Given the description of an element on the screen output the (x, y) to click on. 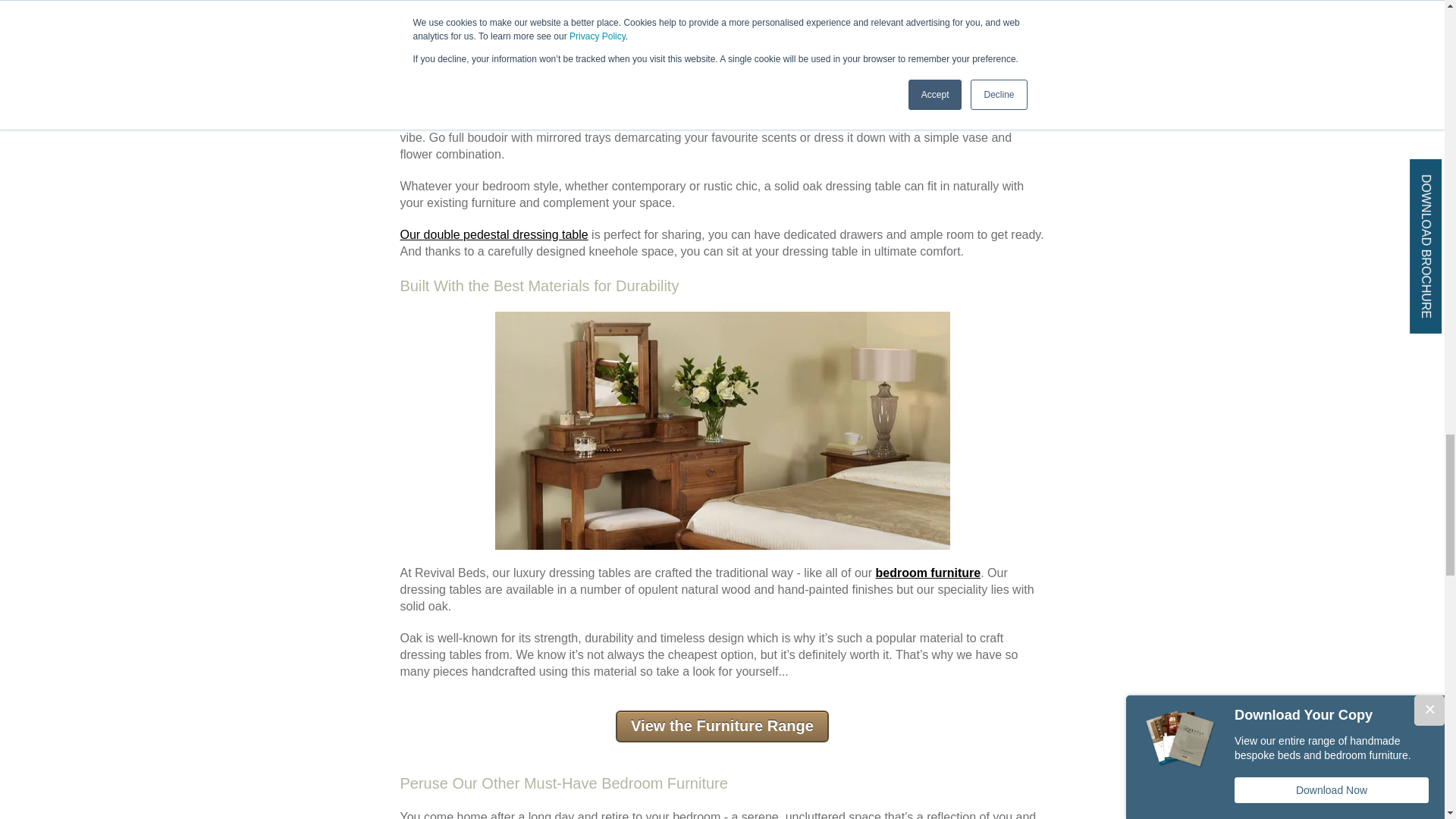
View the Furniture Range (721, 726)
